Given the description of an element on the screen output the (x, y) to click on. 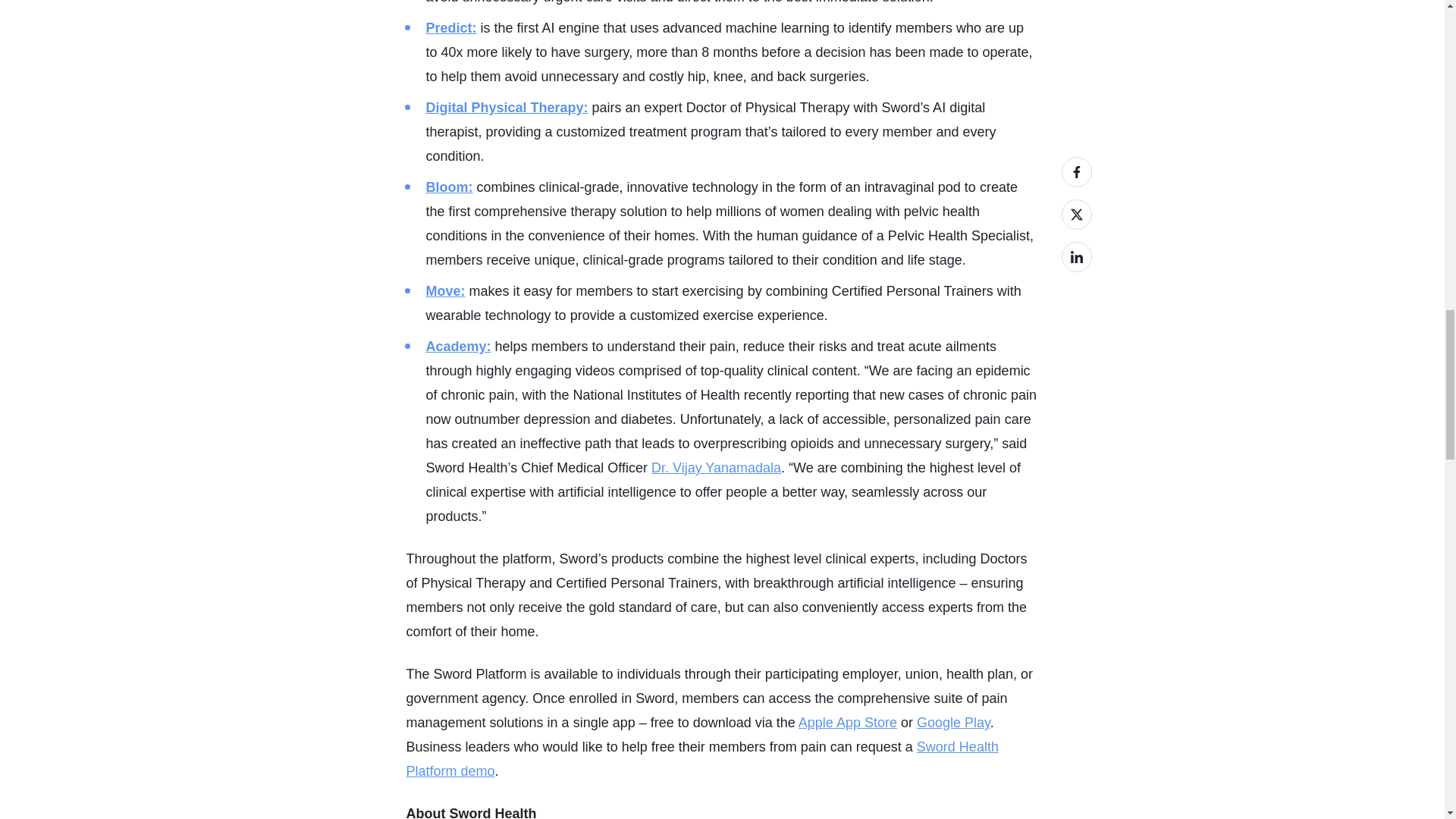
Bloom: (449, 186)
Digital Physical Therapy: (507, 107)
Academy: (459, 346)
Move: (445, 290)
Predict: (451, 28)
